Given the description of an element on the screen output the (x, y) to click on. 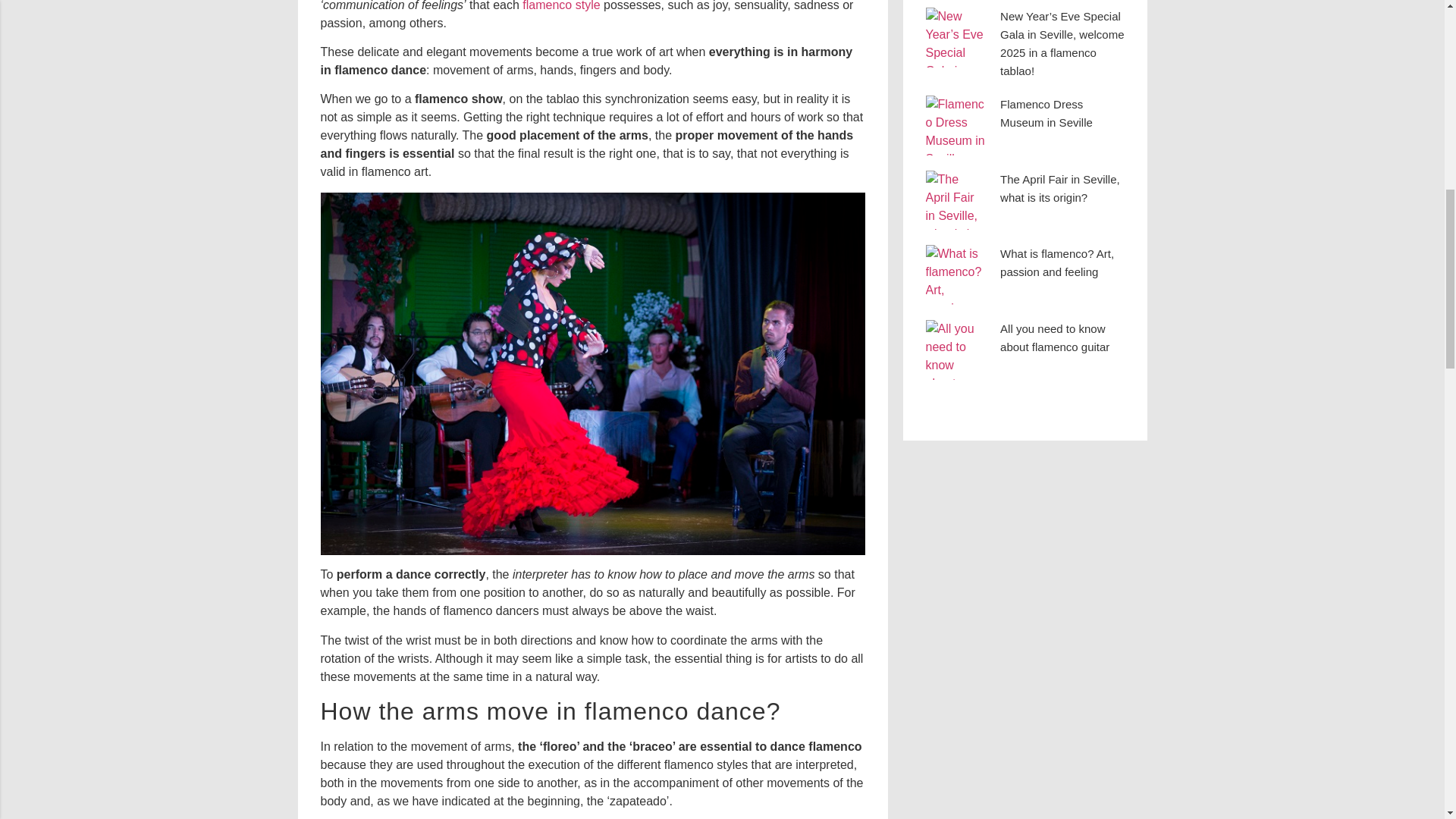
flamenco style (560, 5)
